Given the description of an element on the screen output the (x, y) to click on. 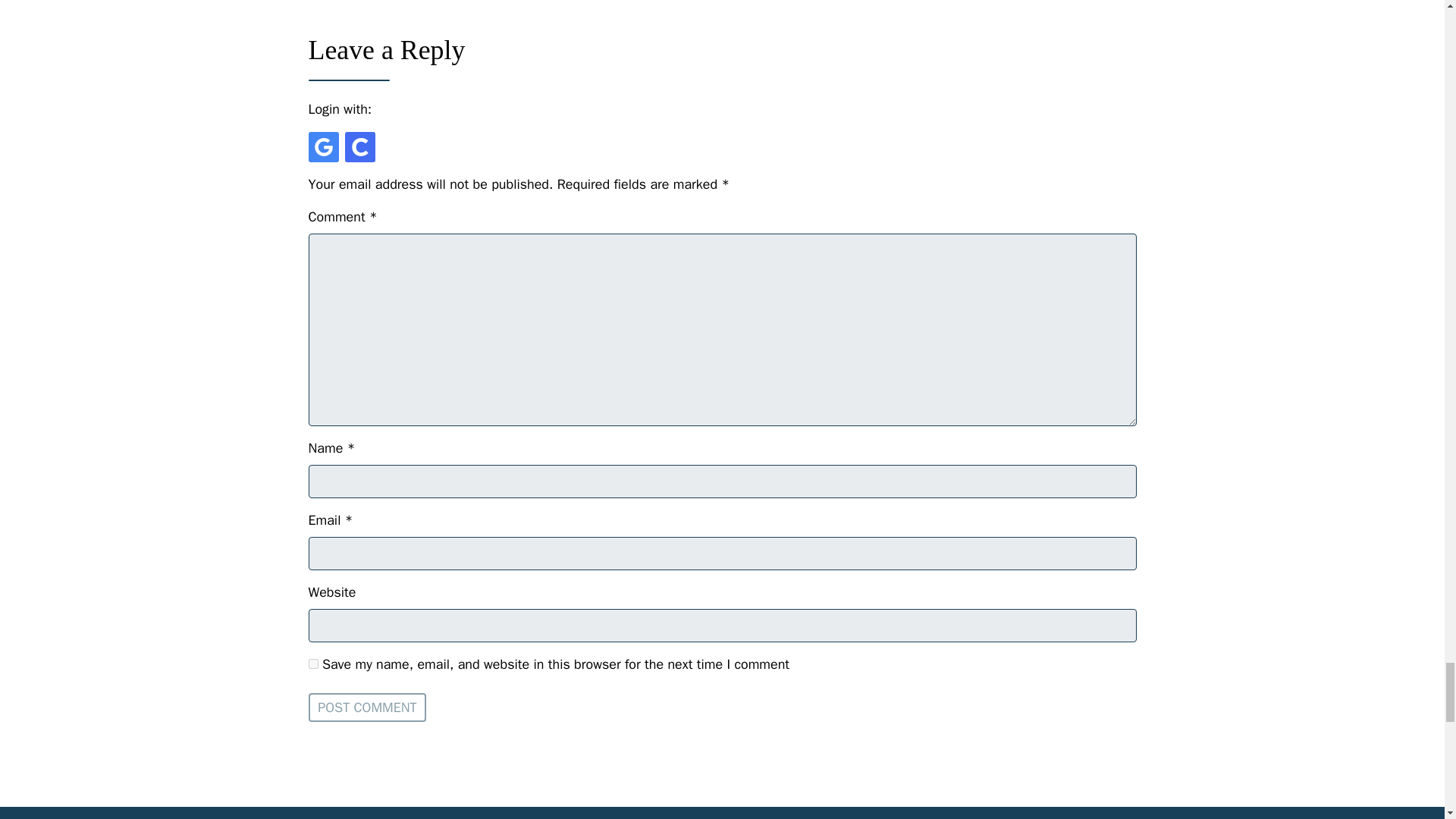
Continue with Google (322, 146)
yes (312, 664)
Continue with Clever (358, 146)
Post Comment (366, 706)
